Given the description of an element on the screen output the (x, y) to click on. 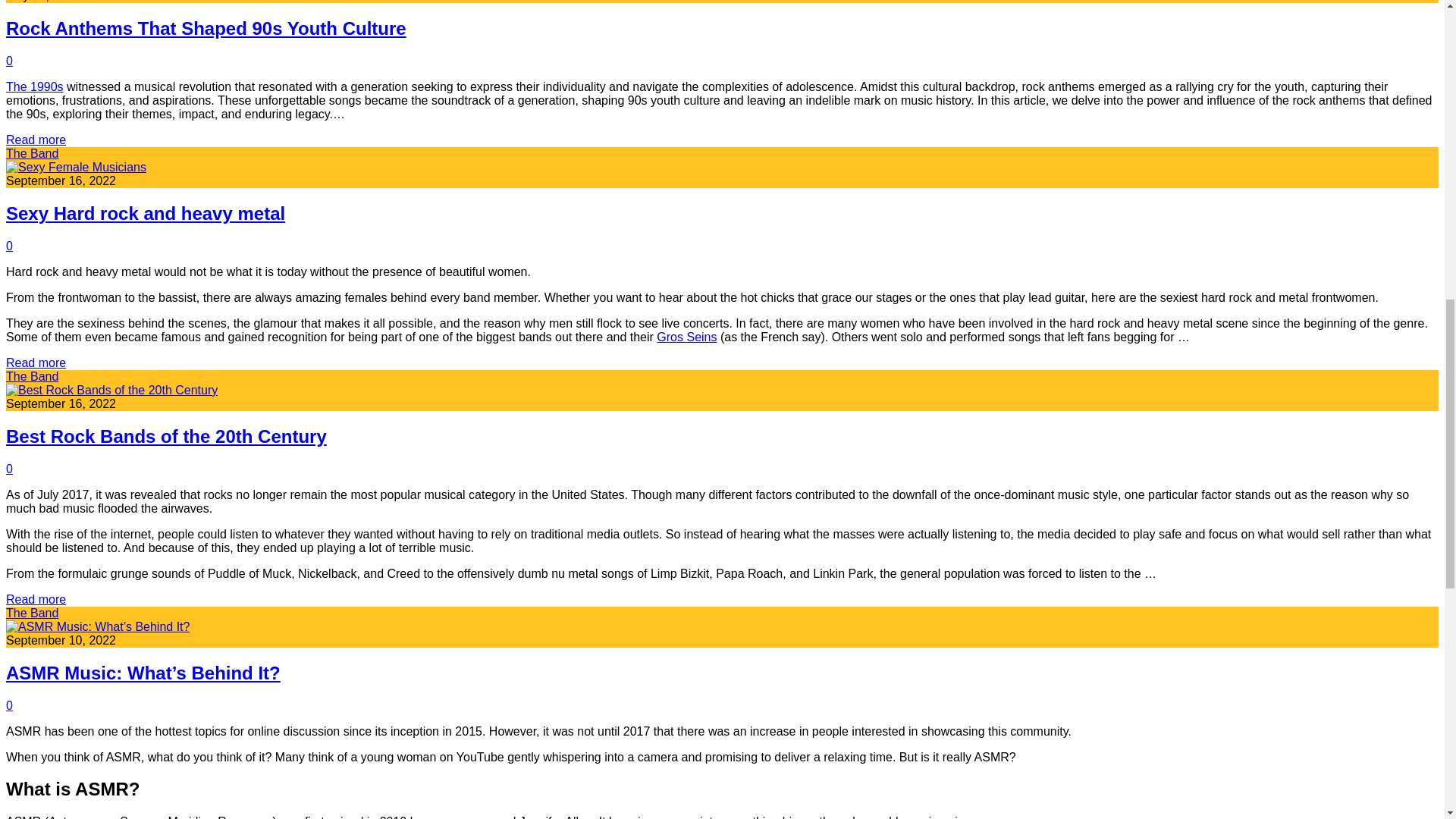
The 1990s (34, 86)
Gros Seins (686, 336)
Rock Anthems That Shaped 90s Youth Culture (205, 28)
Read more (35, 362)
The Band (31, 153)
The Band (31, 612)
The Band (31, 376)
Read more (35, 599)
Best Rock Bands of the 20th Century (165, 435)
Sexy Hard rock and heavy metal (145, 213)
